Given the description of an element on the screen output the (x, y) to click on. 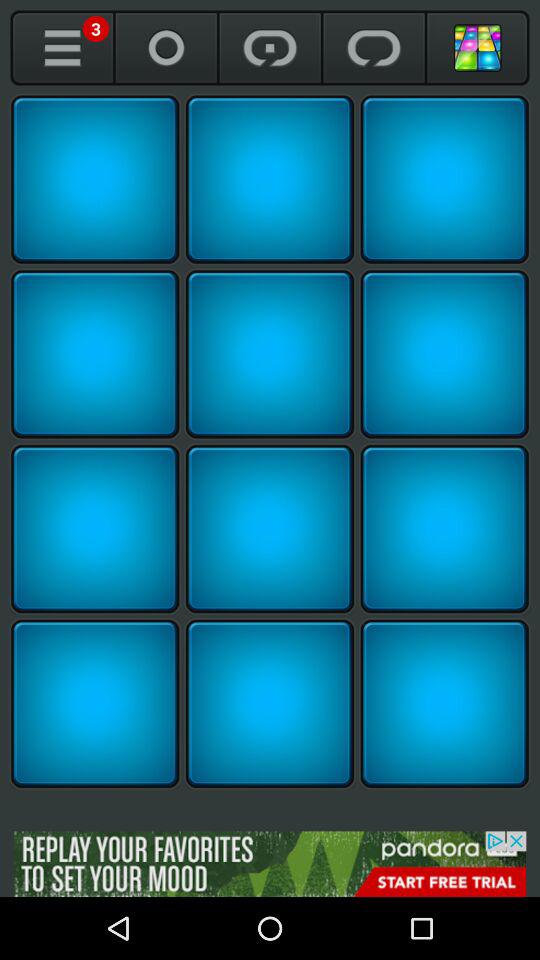
play sound (95, 703)
